Given the description of an element on the screen output the (x, y) to click on. 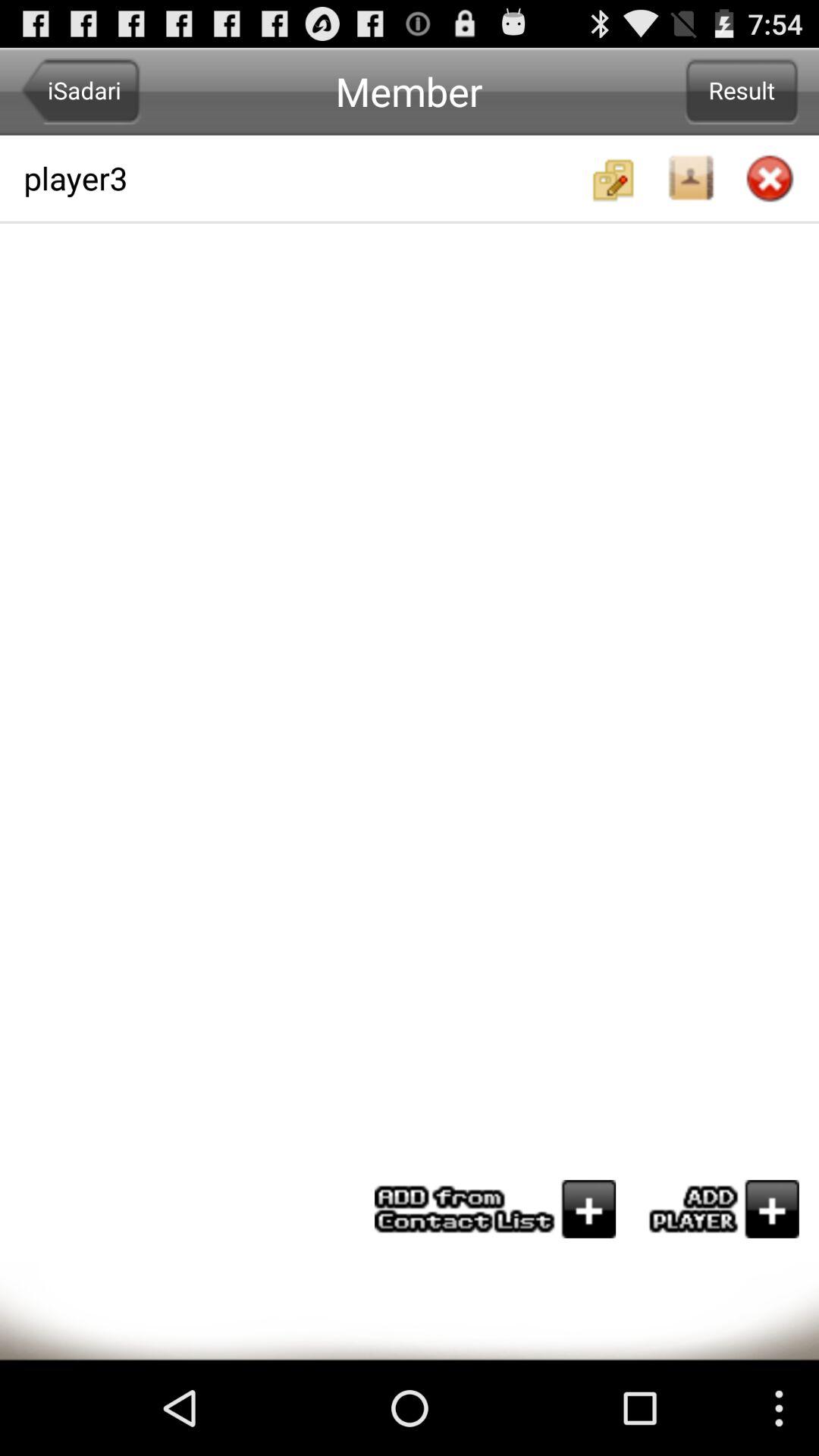
add player (717, 1209)
